Given the description of an element on the screen output the (x, y) to click on. 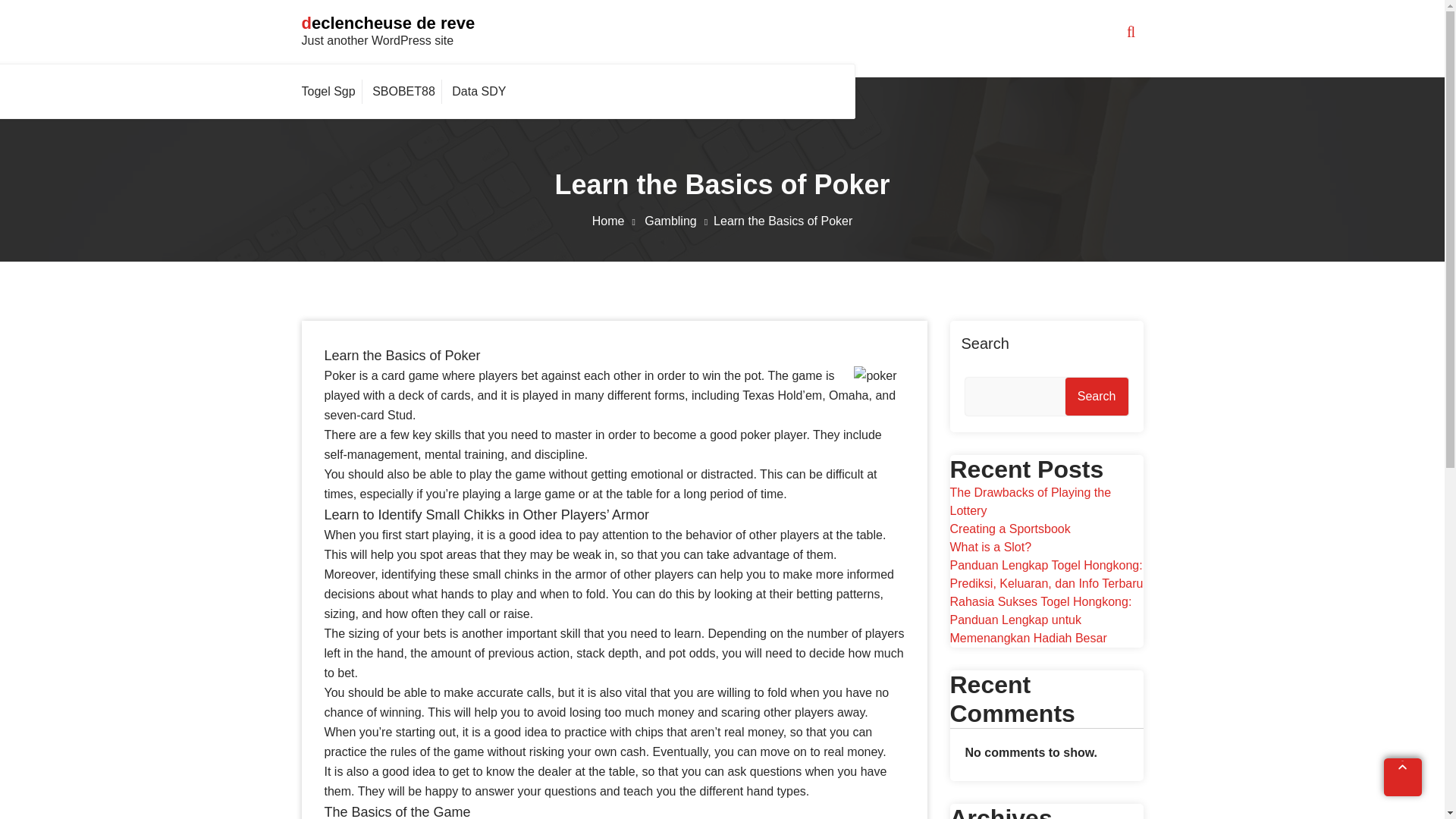
Gambling (679, 220)
What is a Slot? (989, 546)
declencheuse de reve (388, 23)
The Drawbacks of Playing the Lottery (1029, 501)
Data SDY (478, 91)
Home (617, 220)
SBOBET88 (403, 91)
Togel Sgp (331, 91)
Data SDY (478, 91)
SBOBET88 (403, 91)
Togel Sgp (331, 91)
Creating a Sportsbook (1009, 528)
Search (1096, 396)
